Given the description of an element on the screen output the (x, y) to click on. 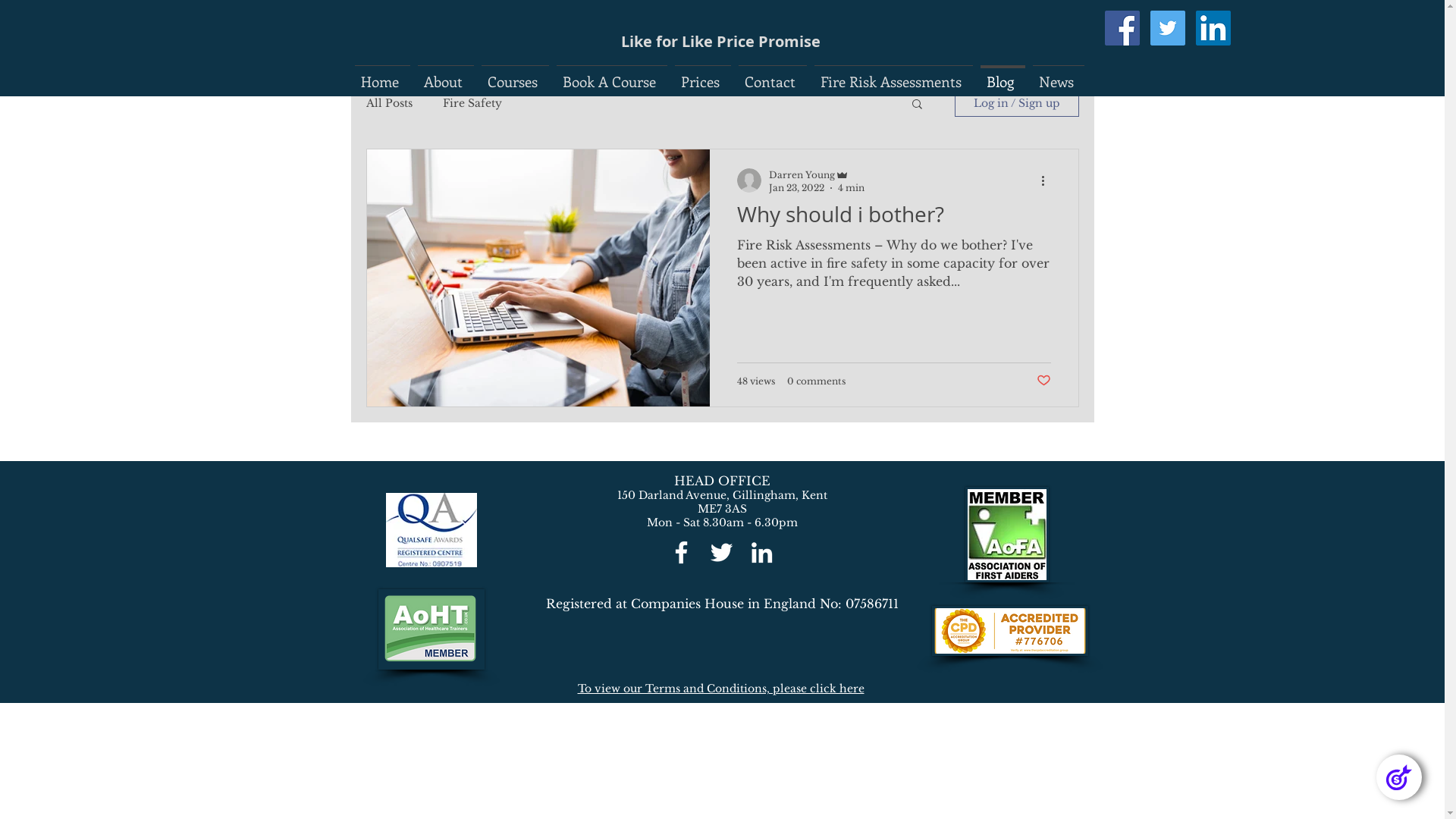
Book A Course Element type: text (611, 74)
Blog Element type: text (1002, 74)
Site Search Element type: hover (1178, 82)
To view our Terms and Conditions, please click here Element type: text (720, 688)
0 comments Element type: text (816, 380)
Fire Risk Assessments Element type: text (892, 74)
News Element type: text (1057, 74)
Post not marked as liked Element type: text (1042, 381)
Why should i bother? Element type: text (894, 218)
Home Element type: text (381, 74)
Contact Element type: text (771, 74)
About Element type: text (445, 74)
Fire Safety Element type: text (472, 102)
Prices Element type: text (702, 74)
All Posts Element type: text (388, 102)
Log in / Sign up Element type: text (1015, 102)
